Given the description of an element on the screen output the (x, y) to click on. 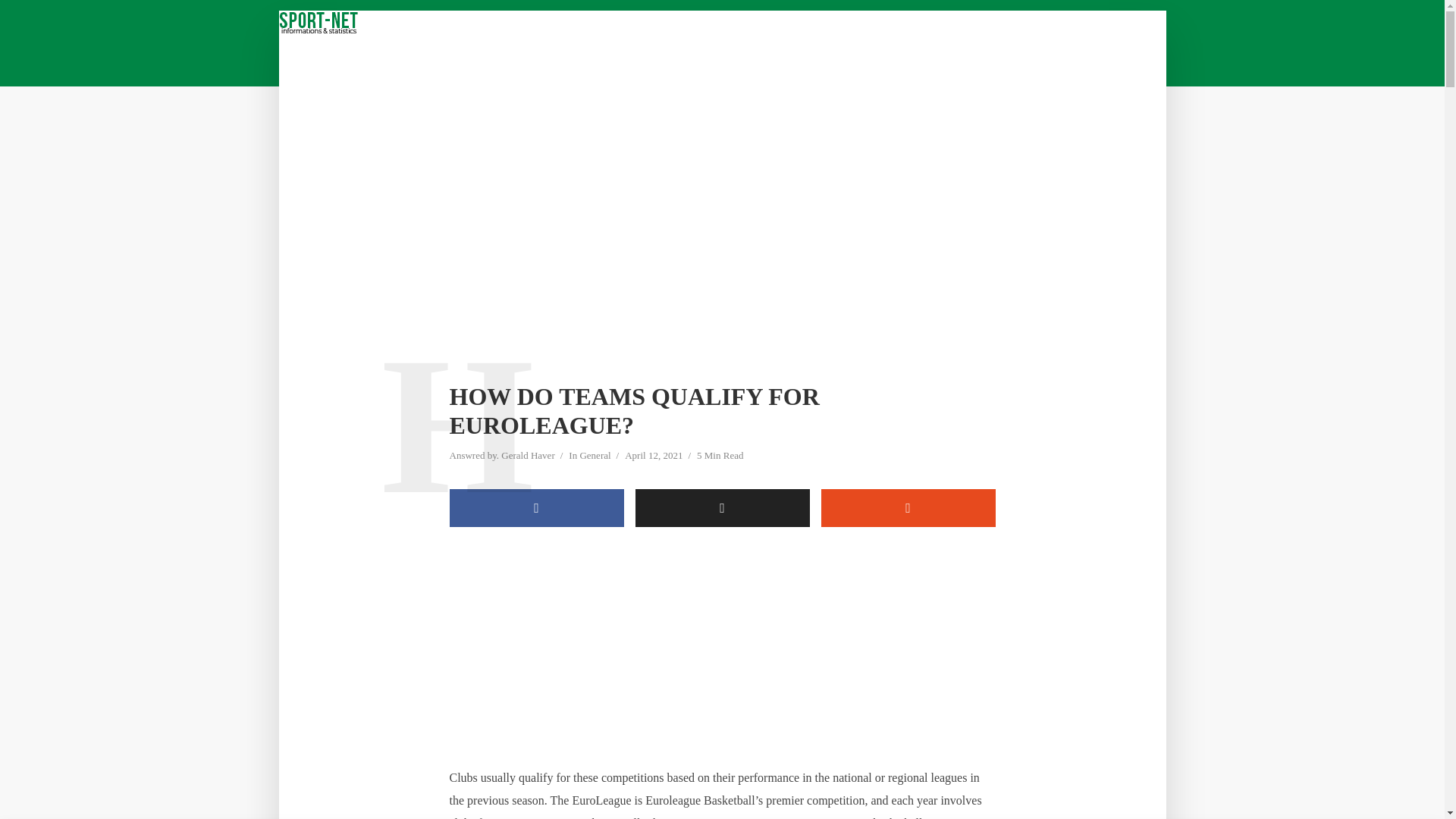
General (594, 456)
Advertisement (721, 653)
Gerald Haver (527, 456)
